Given the description of an element on the screen output the (x, y) to click on. 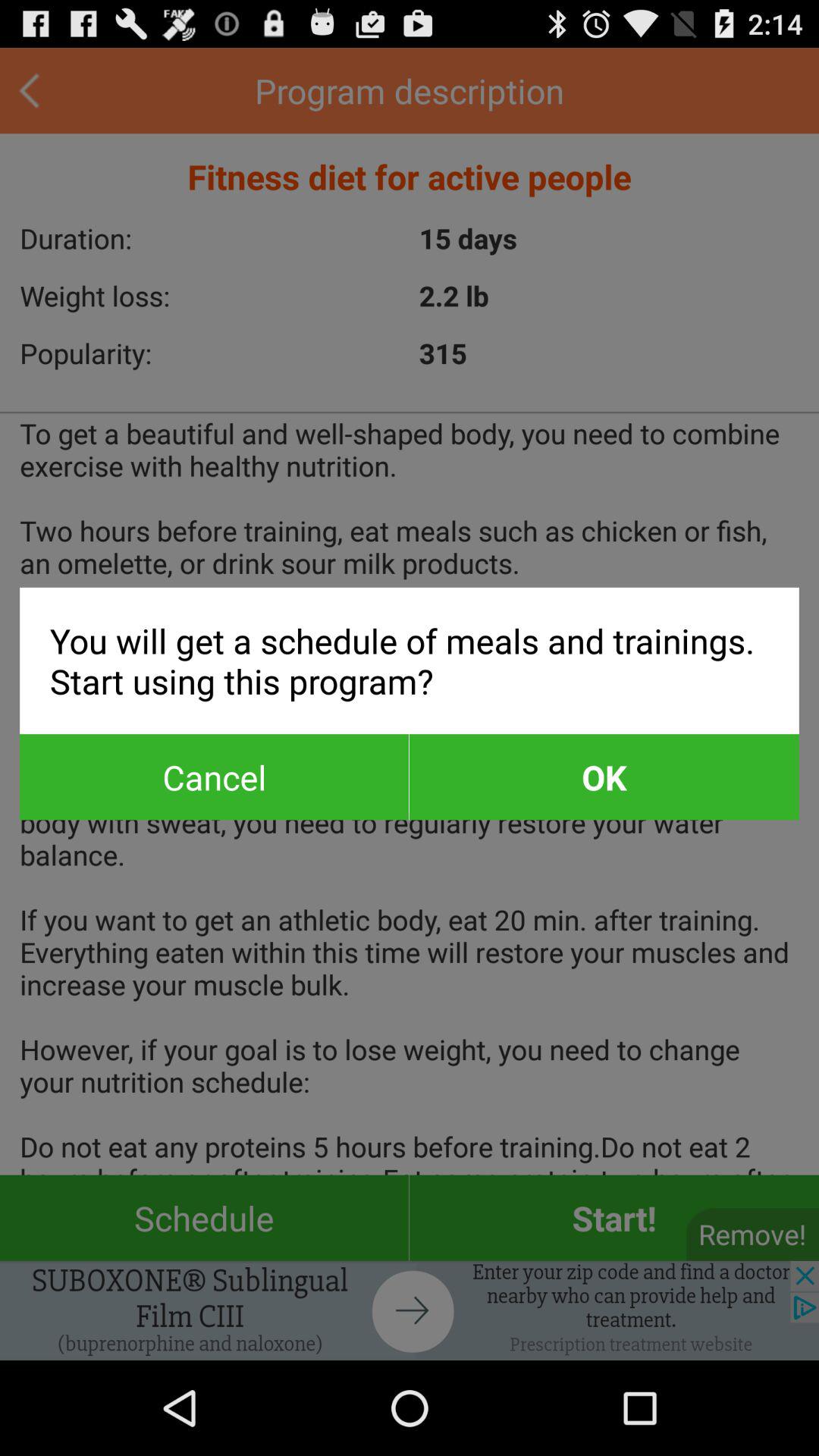
swipe until the ok button (604, 777)
